Given the description of an element on the screen output the (x, y) to click on. 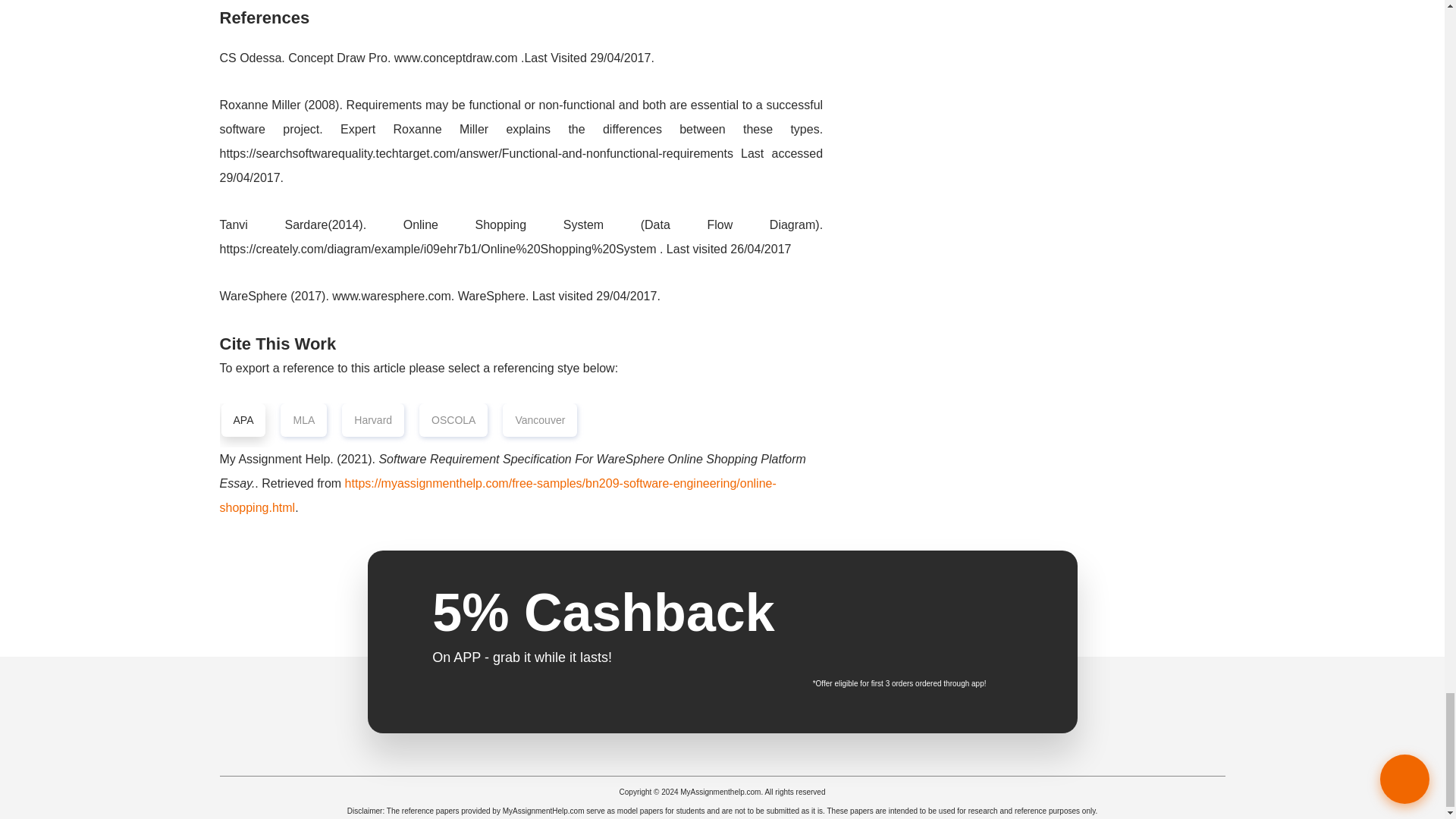
app-store (858, 606)
google-pay (858, 647)
pataka (721, 719)
qrcode (973, 631)
